Given the description of an element on the screen output the (x, y) to click on. 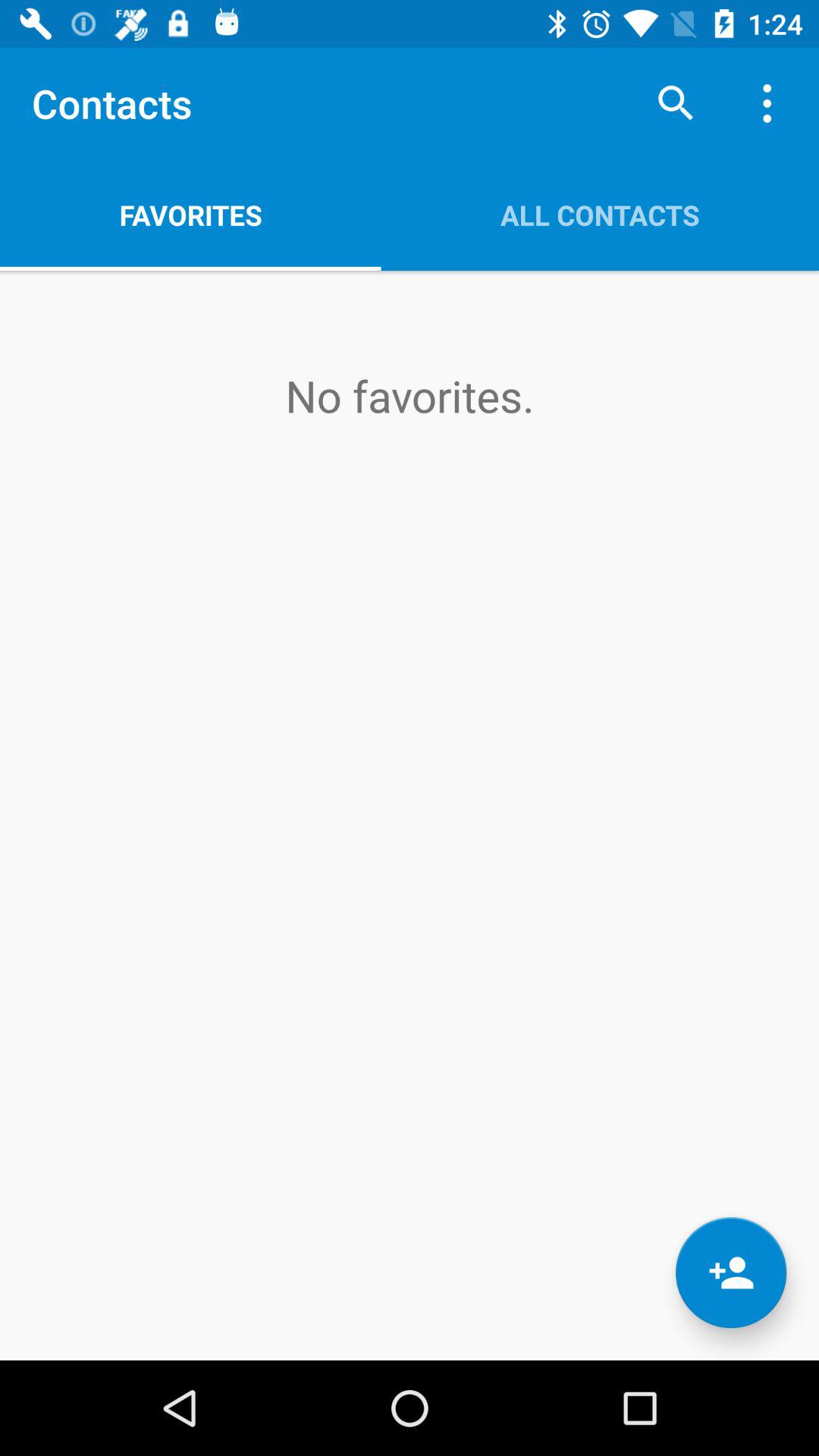
launch app above all contacts item (771, 103)
